Given the description of an element on the screen output the (x, y) to click on. 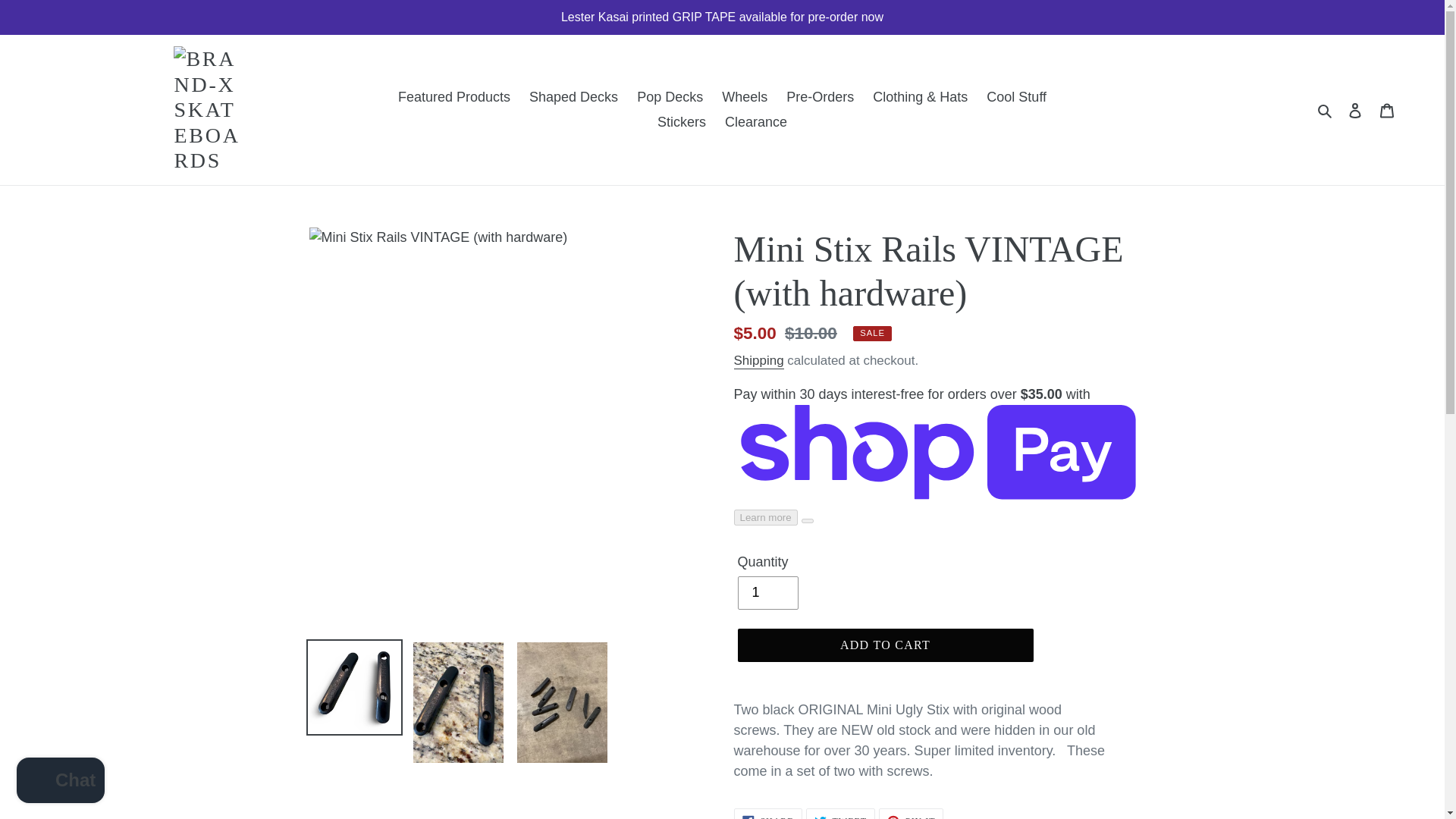
Clearance (755, 122)
Featured Products (454, 97)
ADD TO CART (884, 644)
Cool Stuff (911, 813)
Stickers (1016, 97)
Wheels (681, 122)
Shipping (744, 97)
1 (758, 360)
Pop Decks (766, 592)
